Given the description of an element on the screen output the (x, y) to click on. 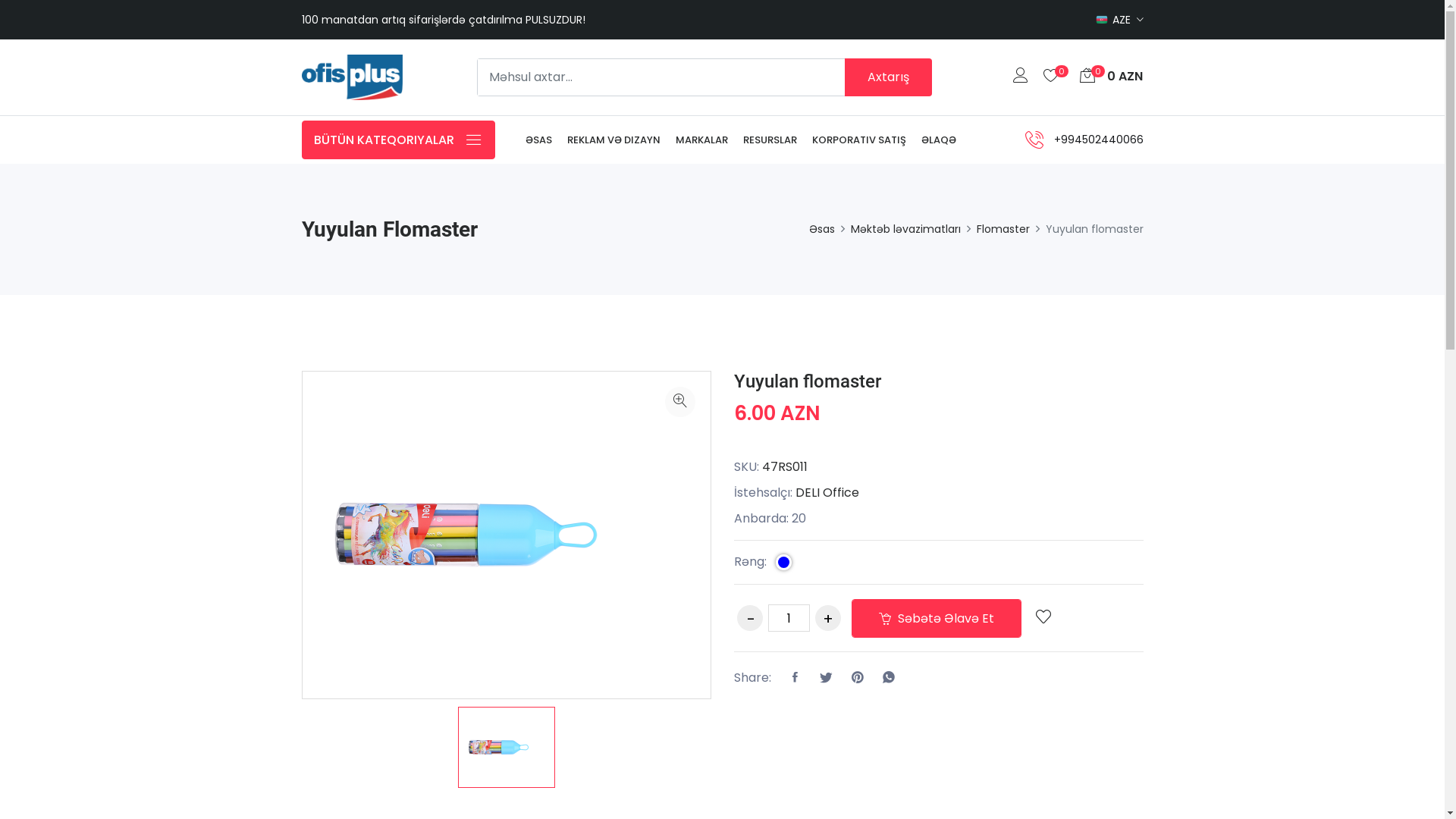
DELI Office Element type: text (826, 492)
RESURSLAR Element type: text (769, 140)
Flomaster Element type: text (1002, 228)
Zoom Element type: hover (679, 401)
0 Element type: text (1053, 77)
Yuyulan flomaster Element type: text (807, 381)
47RS011 Element type: text (783, 466)
MARKALAR Element type: text (700, 140)
00 AZN Element type: text (1107, 77)
Mavi Element type: hover (783, 561)
Qty Element type: hover (788, 617)
